Given the description of an element on the screen output the (x, y) to click on. 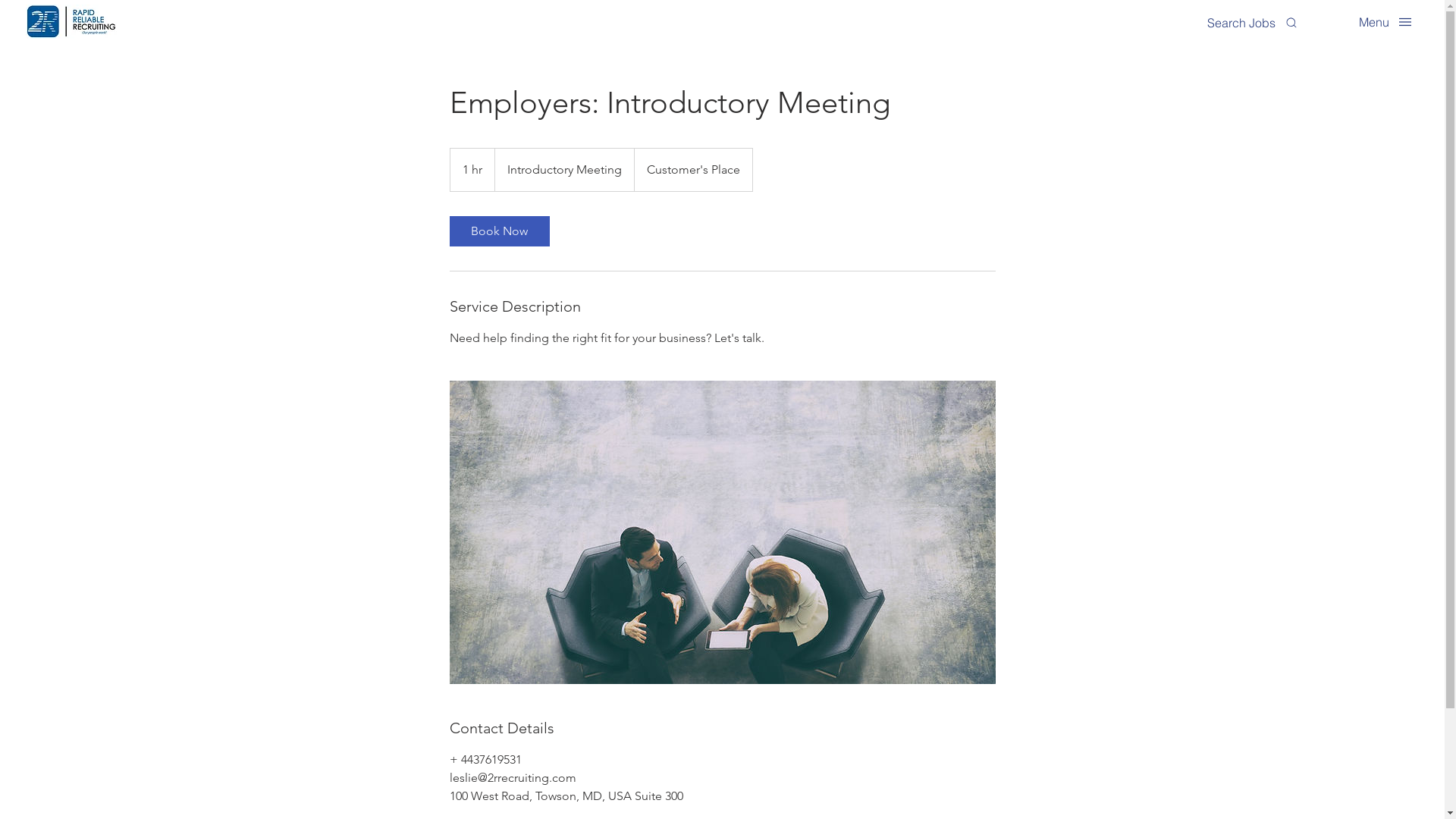
Search Jobs Element type: text (1252, 22)
Menu Element type: text (1385, 21)
Book Now Element type: text (498, 231)
